Given the description of an element on the screen output the (x, y) to click on. 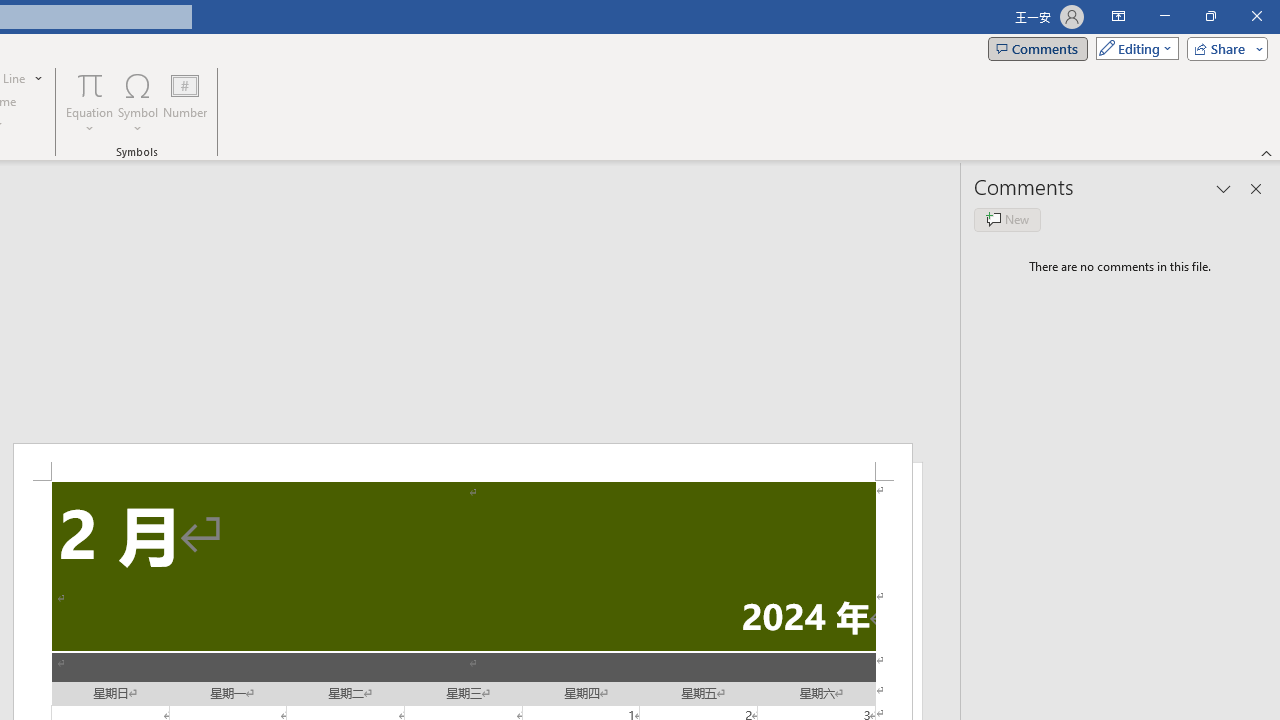
Equation (90, 102)
Collapse the Ribbon (1267, 152)
New comment (1007, 219)
Number... (185, 102)
Task Pane Options (1224, 188)
Symbol (138, 102)
Ribbon Display Options (1118, 16)
Equation (90, 84)
More Options (90, 121)
Restore Down (1210, 16)
Close pane (1256, 188)
Share (1223, 48)
Header -Section 2- (462, 461)
